Given the description of an element on the screen output the (x, y) to click on. 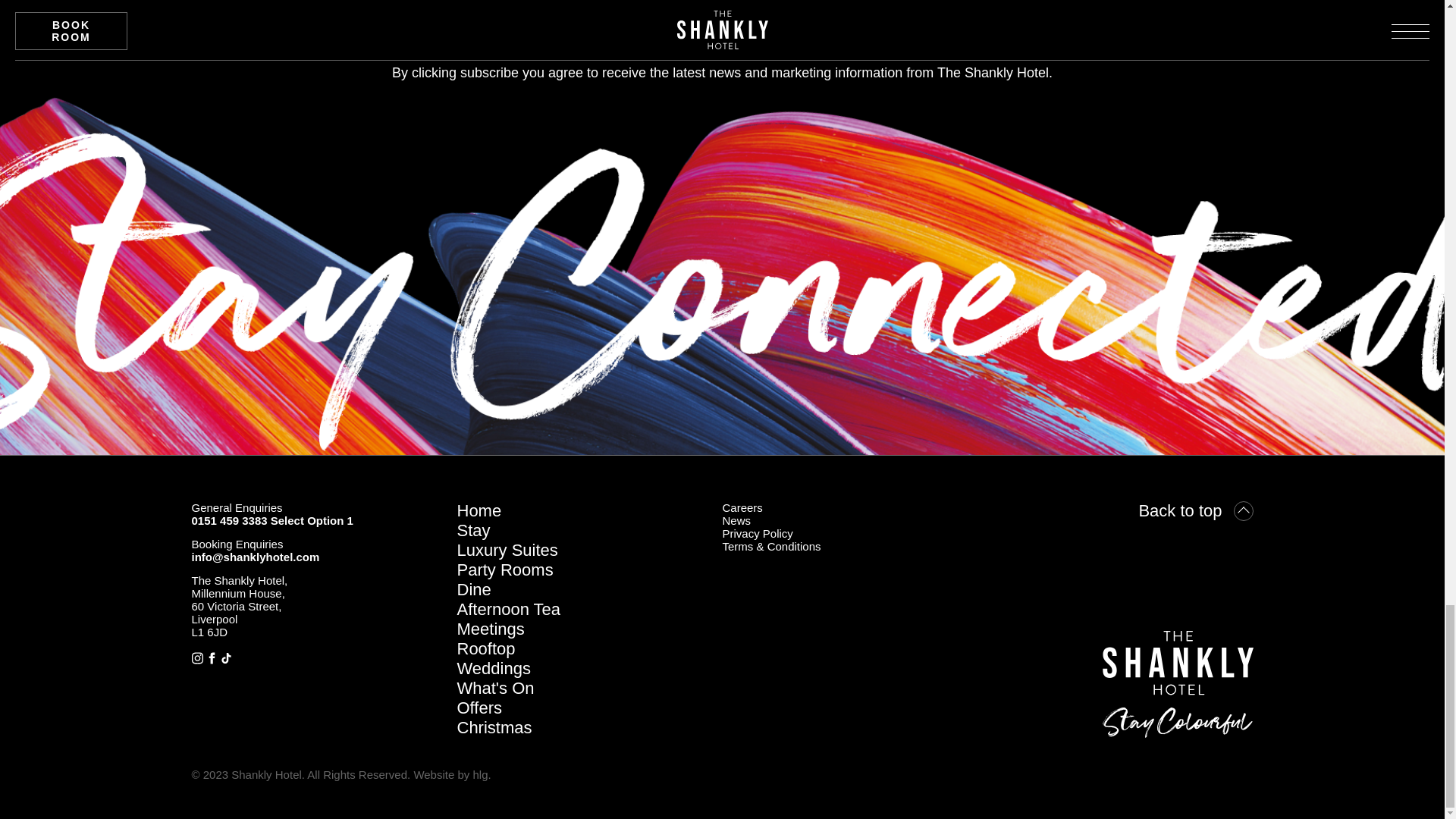
0151 459 3383 Select Option 1 (271, 520)
SUBSCRIBE (273, 13)
